Given the description of an element on the screen output the (x, y) to click on. 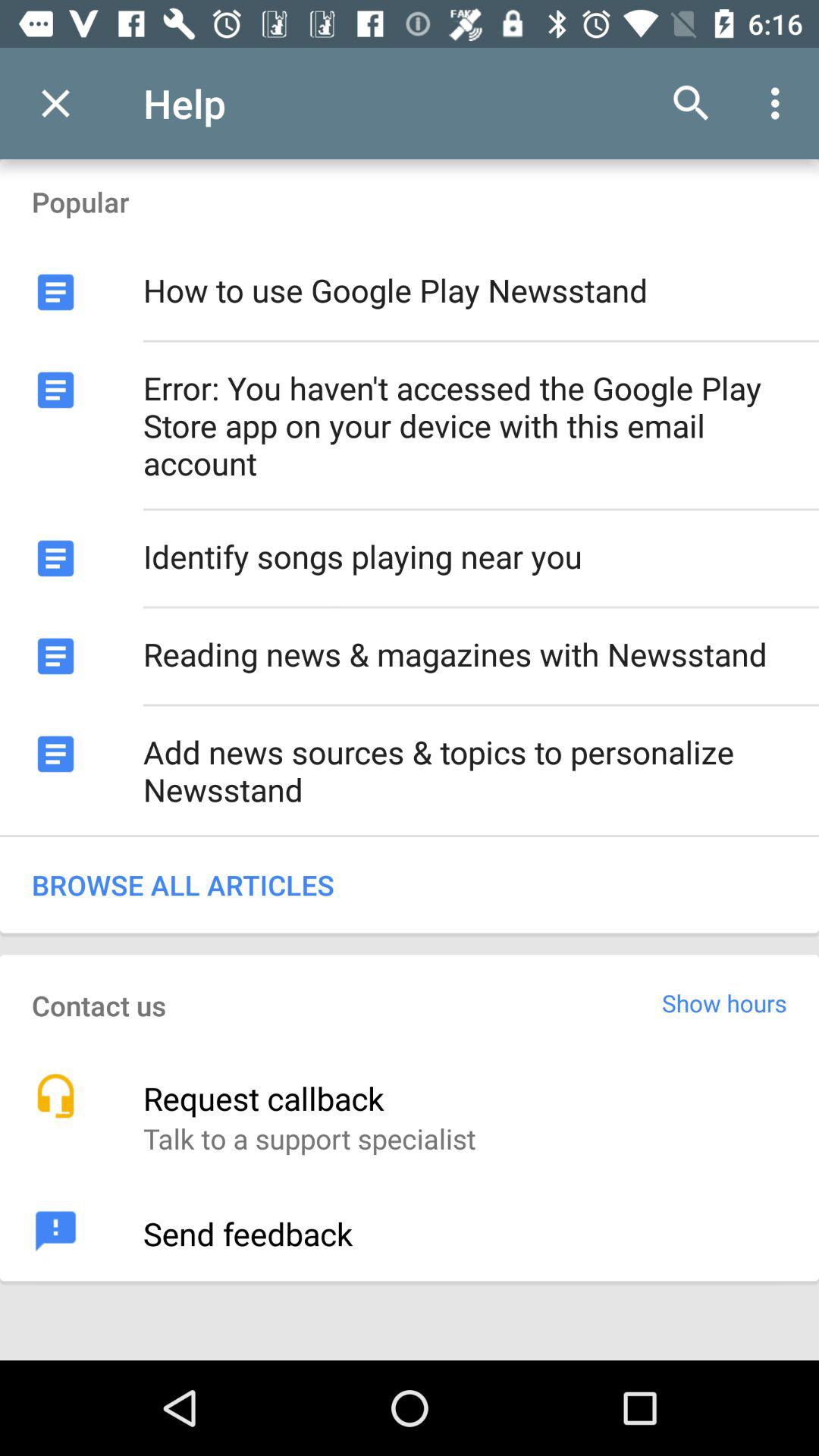
open the item to the right of the help app (691, 103)
